Given the description of an element on the screen output the (x, y) to click on. 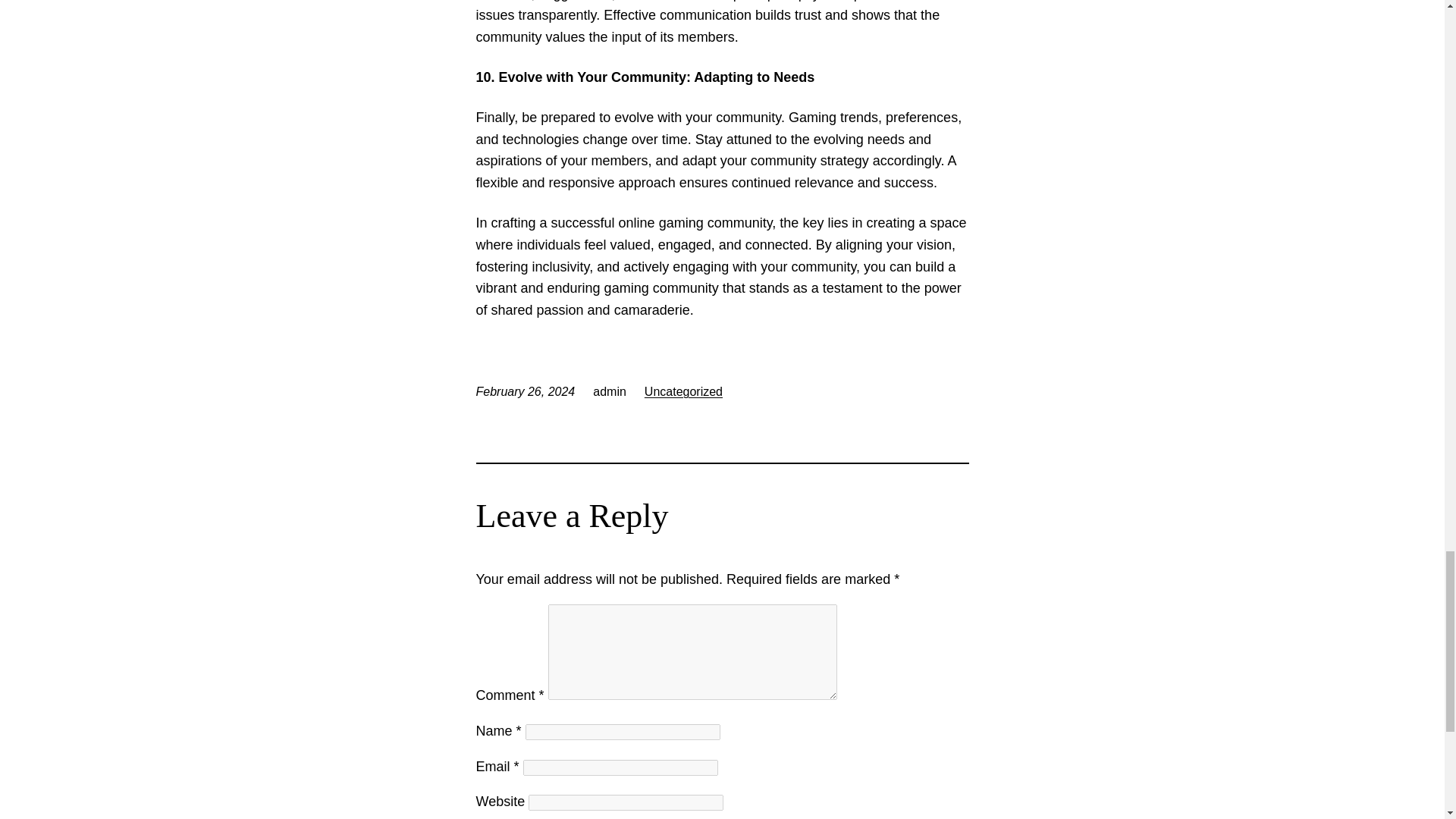
Uncategorized (683, 391)
